Given the description of an element on the screen output the (x, y) to click on. 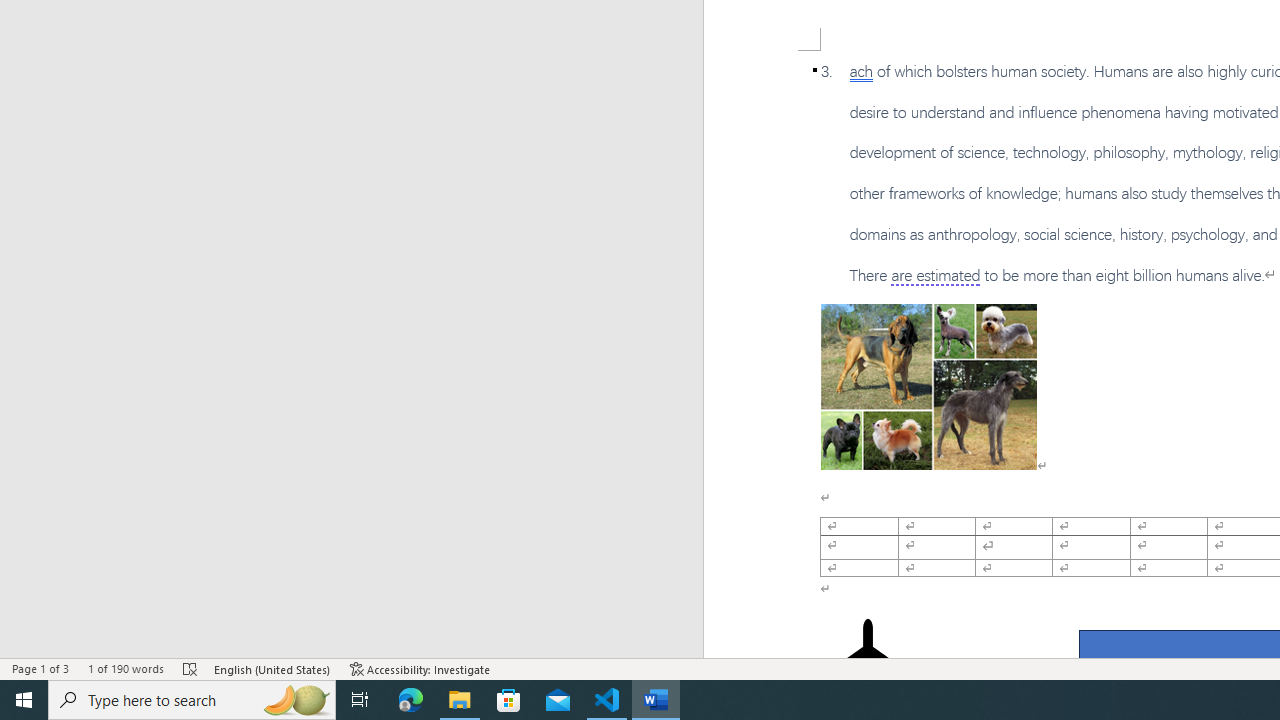
Airplane with solid fill (867, 657)
Morphological variation in six dogs (928, 386)
Page Number Page 1 of 3 (39, 668)
Language English (United States) (273, 668)
Accessibility Checker Accessibility: Investigate (420, 668)
Spelling and Grammar Check Errors (191, 668)
